Given the description of an element on the screen output the (x, y) to click on. 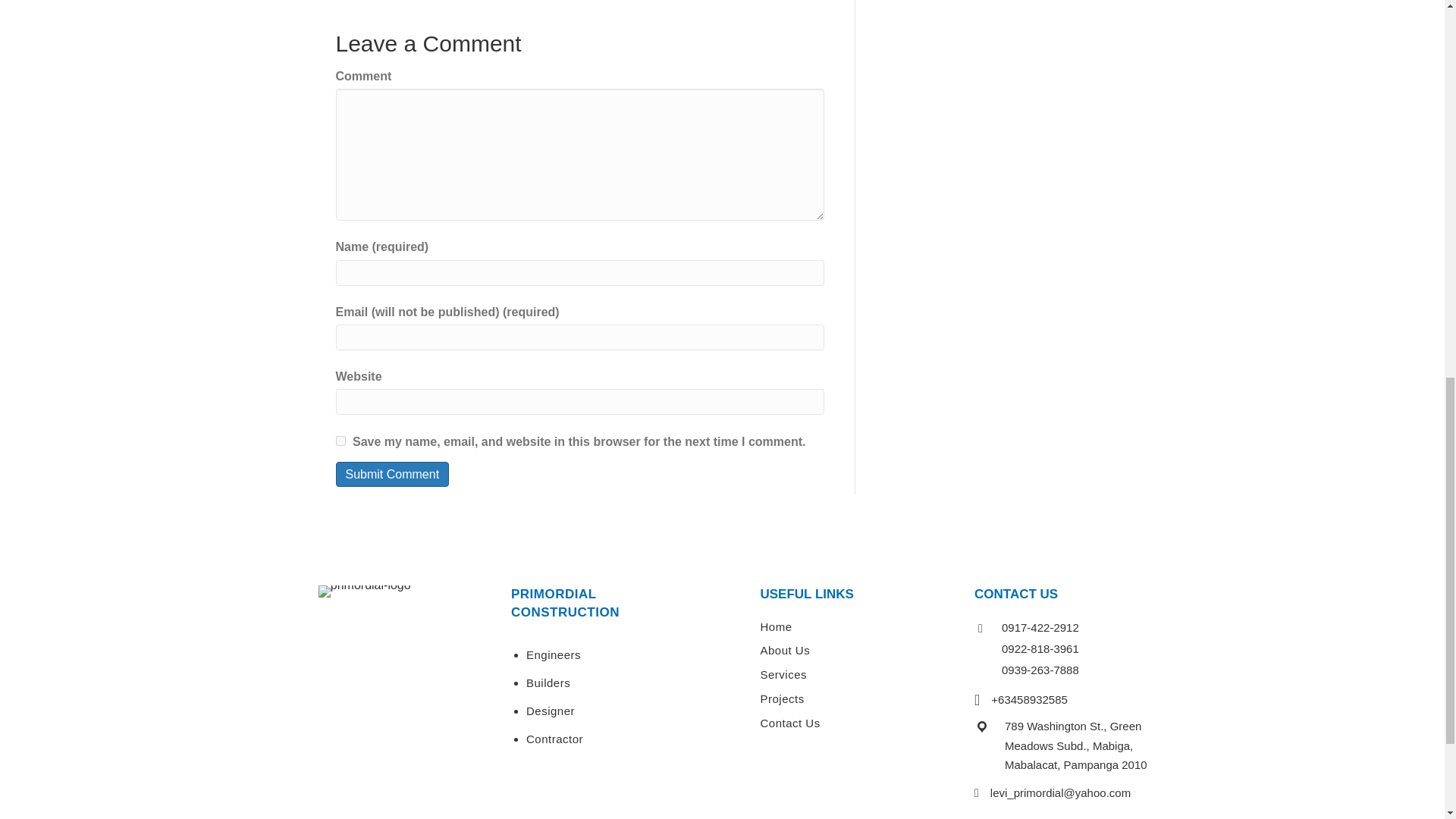
About Us (784, 649)
Projects (781, 698)
Contact Us (789, 722)
primordial-logo (364, 591)
Home (776, 626)
Submit Comment (391, 473)
Submit Comment (391, 473)
yes (339, 440)
Services (783, 674)
